Given the description of an element on the screen output the (x, y) to click on. 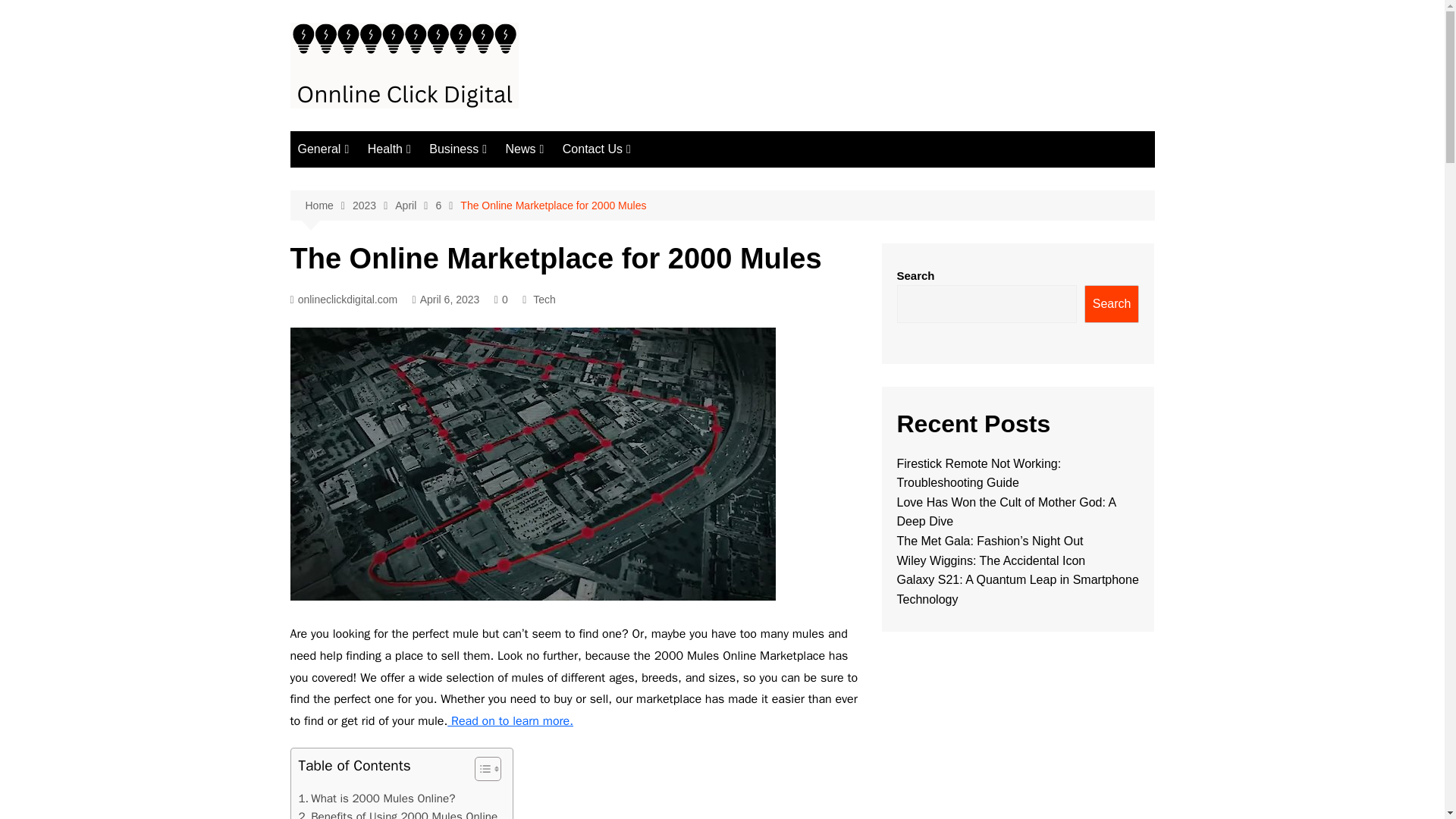
onlineclickdigital.com (343, 299)
What is 2000 Mules Online? (376, 798)
Affiliate Disclaimer (638, 279)
Education (580, 204)
Disclaimer (638, 229)
Health (389, 149)
Dental Care (443, 229)
Terms and Conditions (638, 179)
Benefits of Using 2000 Mules Online (397, 813)
CBD (373, 204)
